Given the description of an element on the screen output the (x, y) to click on. 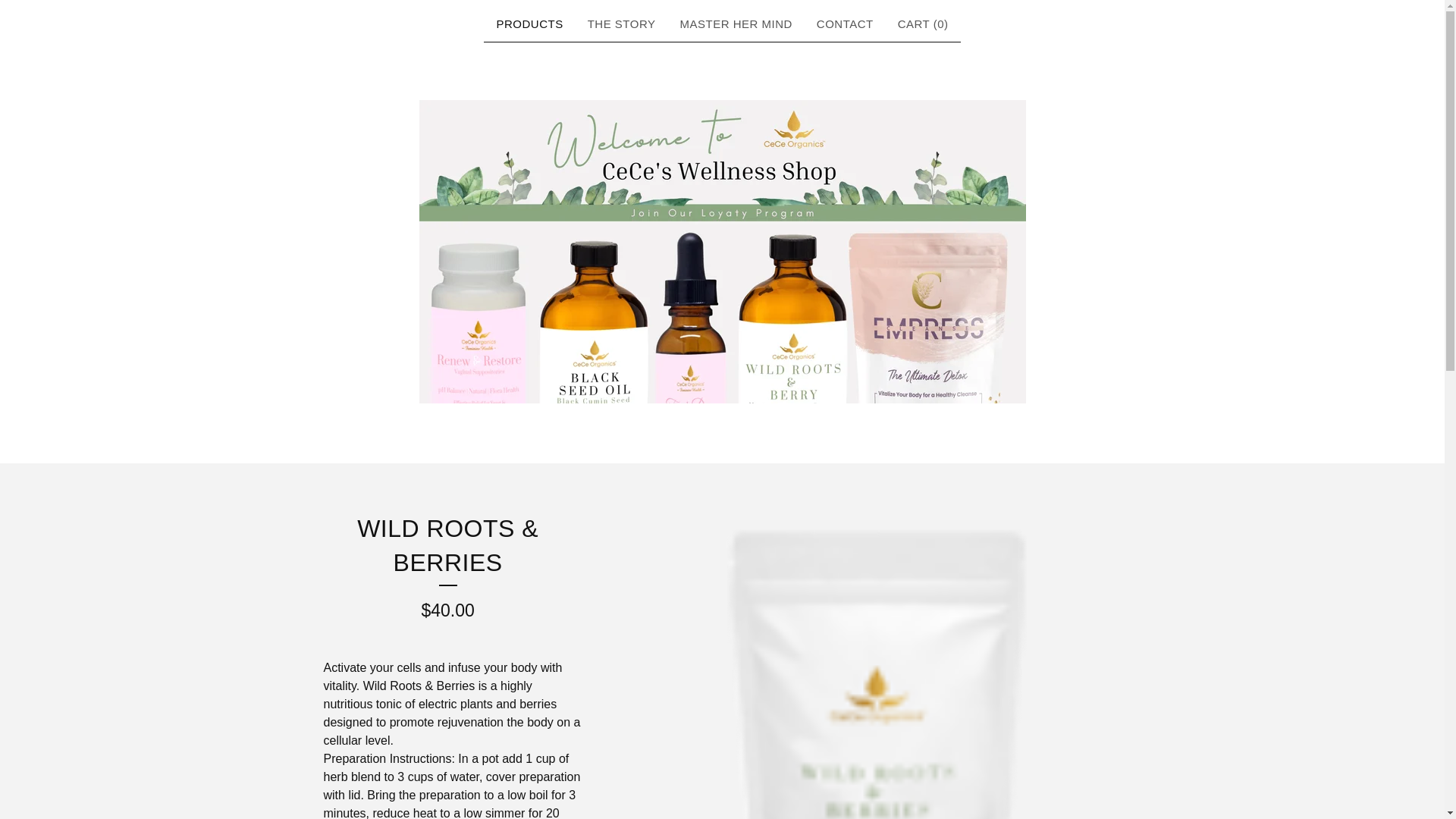
THE STORY (621, 24)
PRODUCTS (529, 24)
View Master Her Mind (734, 24)
CONTACT (844, 24)
MASTER HER MIND (734, 24)
View The Story (621, 24)
